Given the description of an element on the screen output the (x, y) to click on. 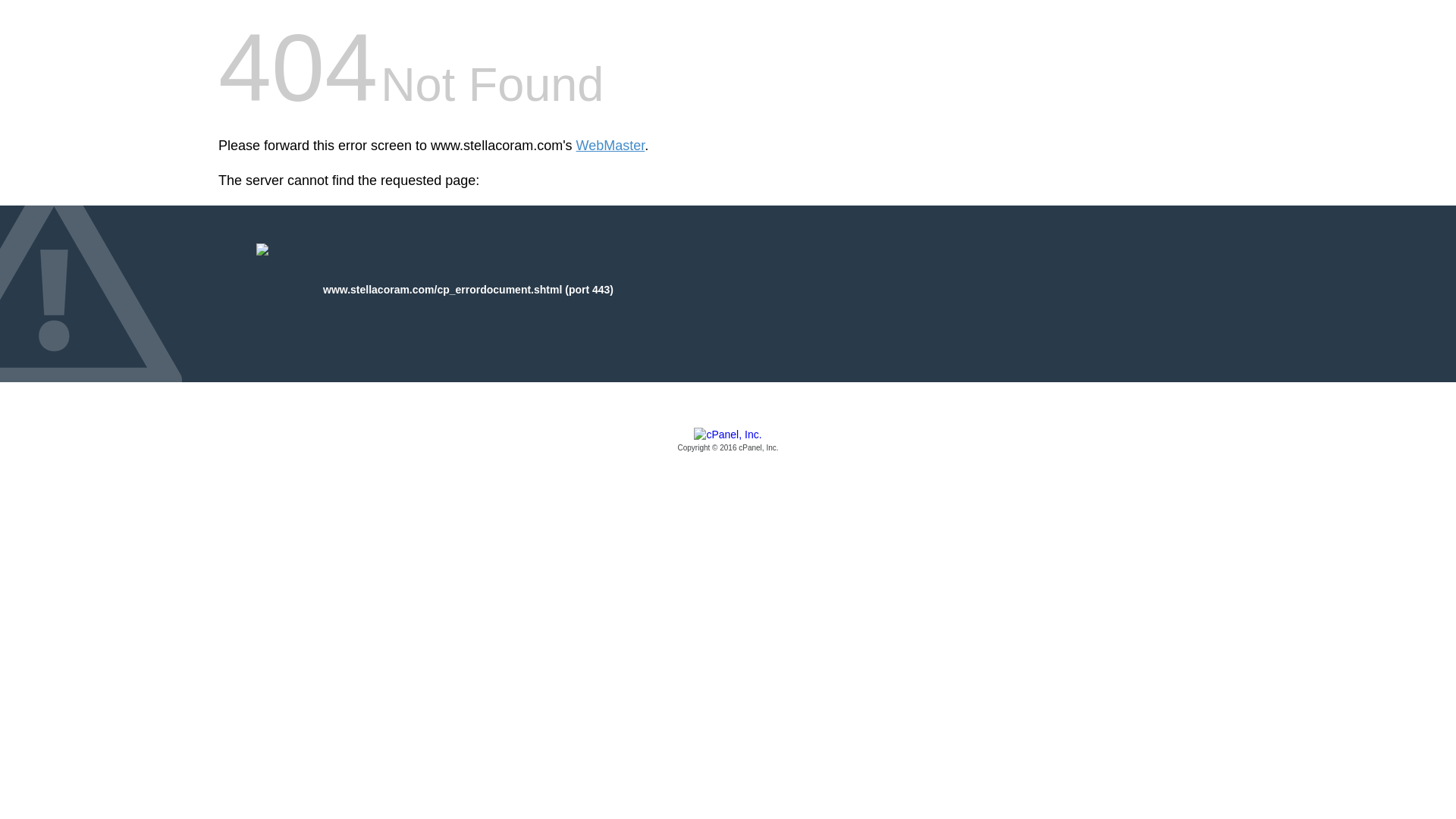
WebMaster (610, 145)
cPanel, Inc. (727, 440)
